Given the description of an element on the screen output the (x, y) to click on. 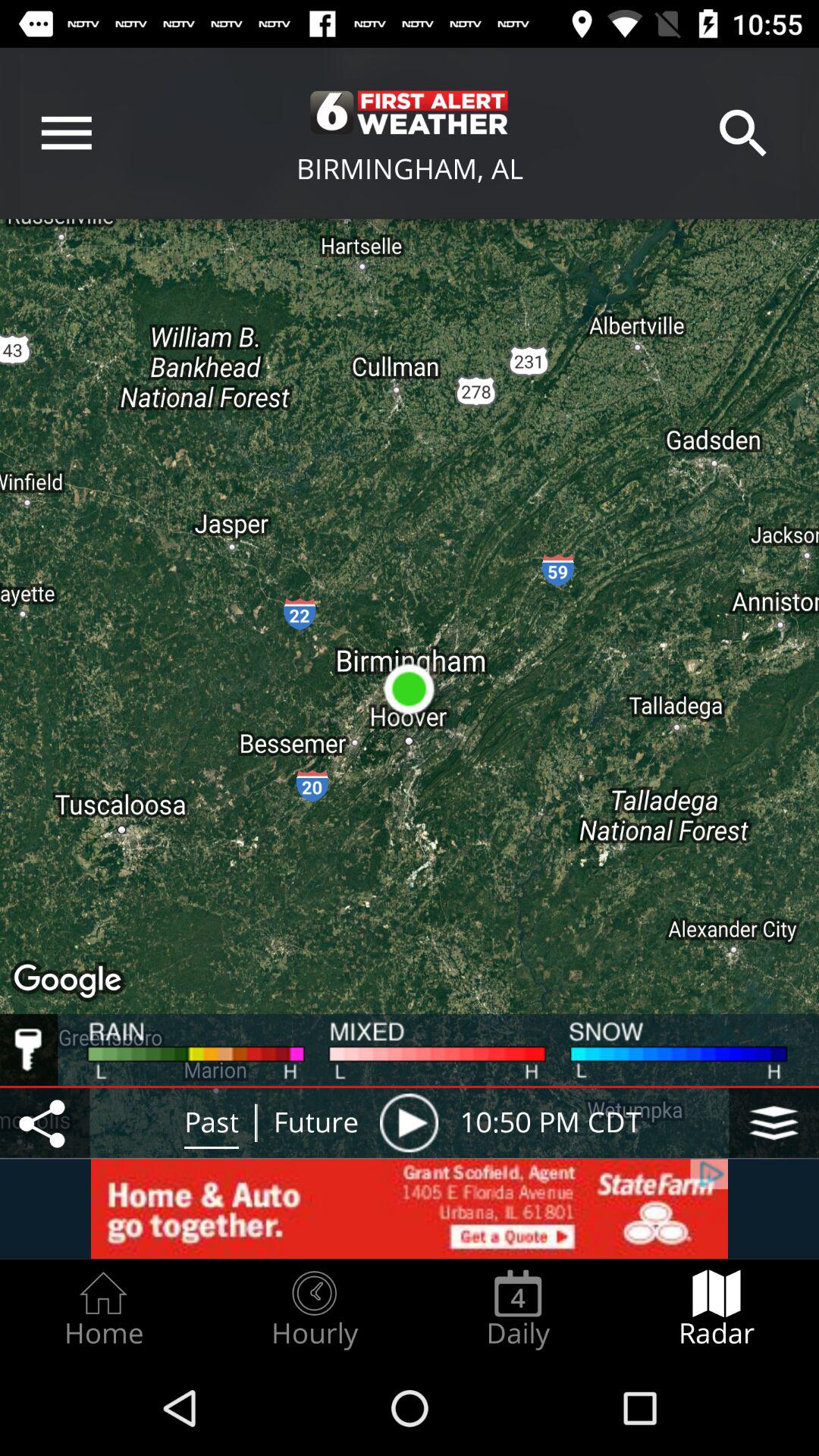
tap the hourly radio button (314, 1309)
